Given the description of an element on the screen output the (x, y) to click on. 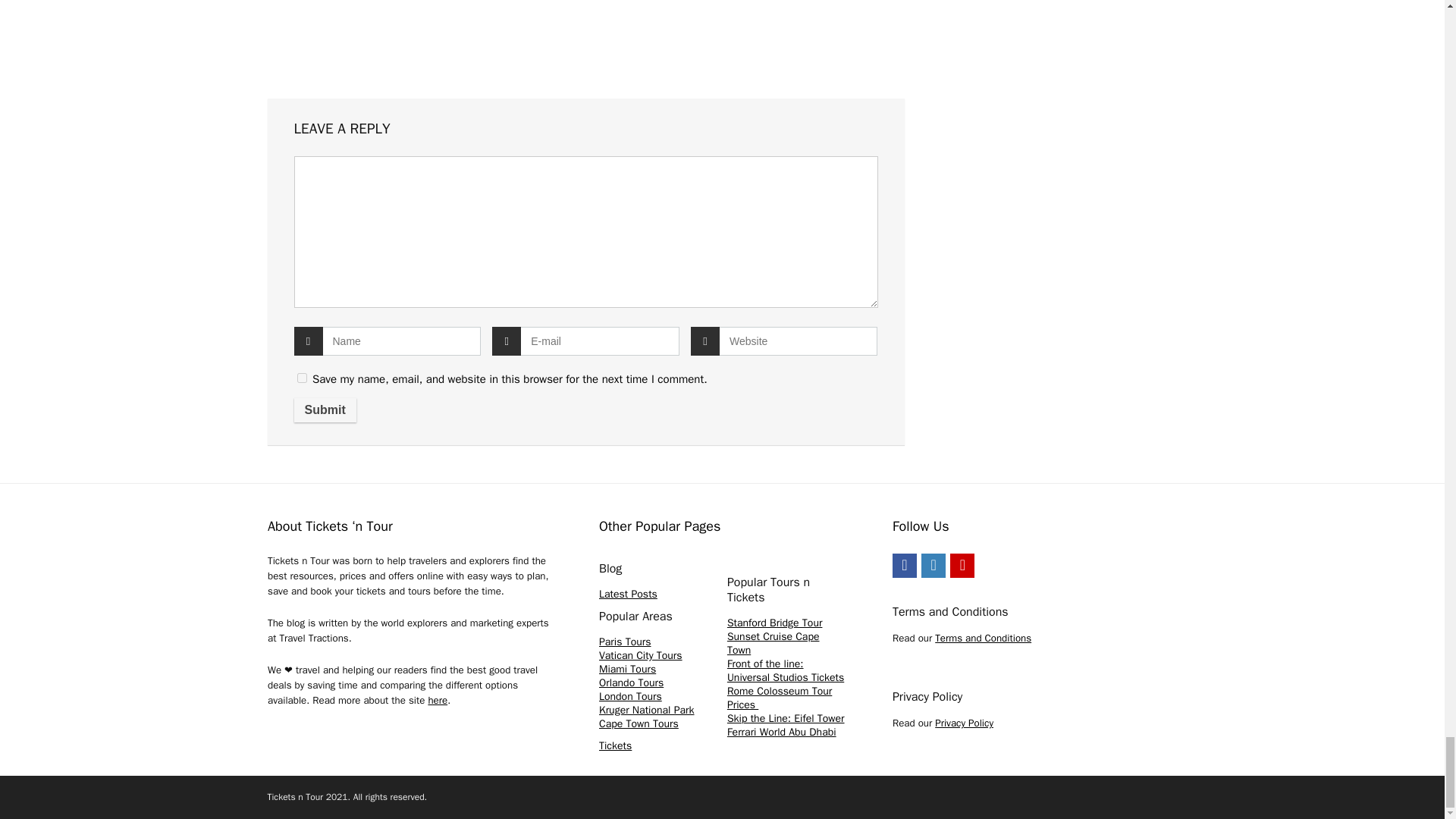
Youtube (962, 565)
Facebook (904, 565)
Submit (325, 410)
Instagramm (932, 565)
yes (302, 378)
